Given the description of an element on the screen output the (x, y) to click on. 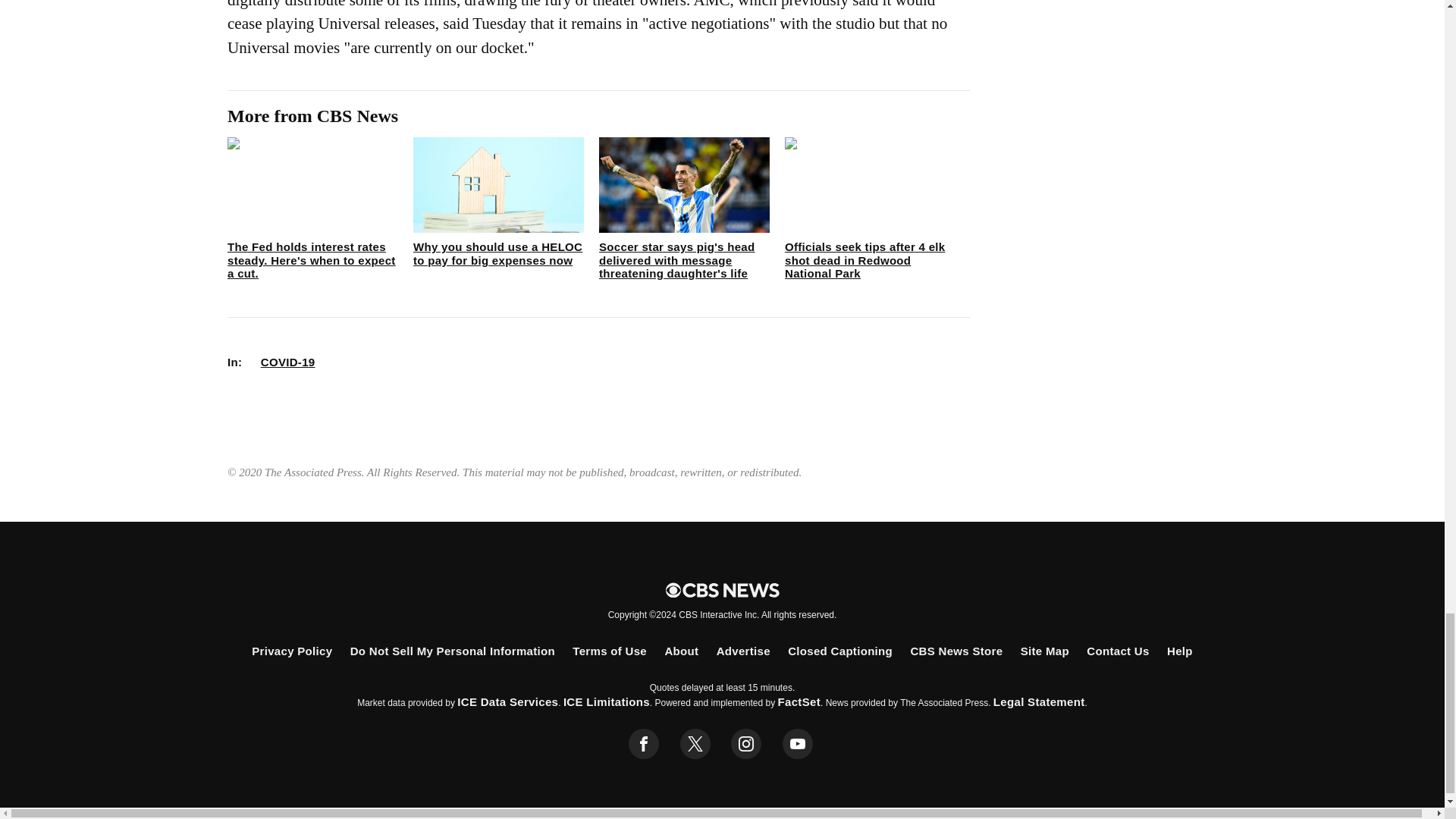
youtube (797, 743)
twitter (694, 743)
facebook (643, 743)
instagram (745, 743)
